Given the description of an element on the screen output the (x, y) to click on. 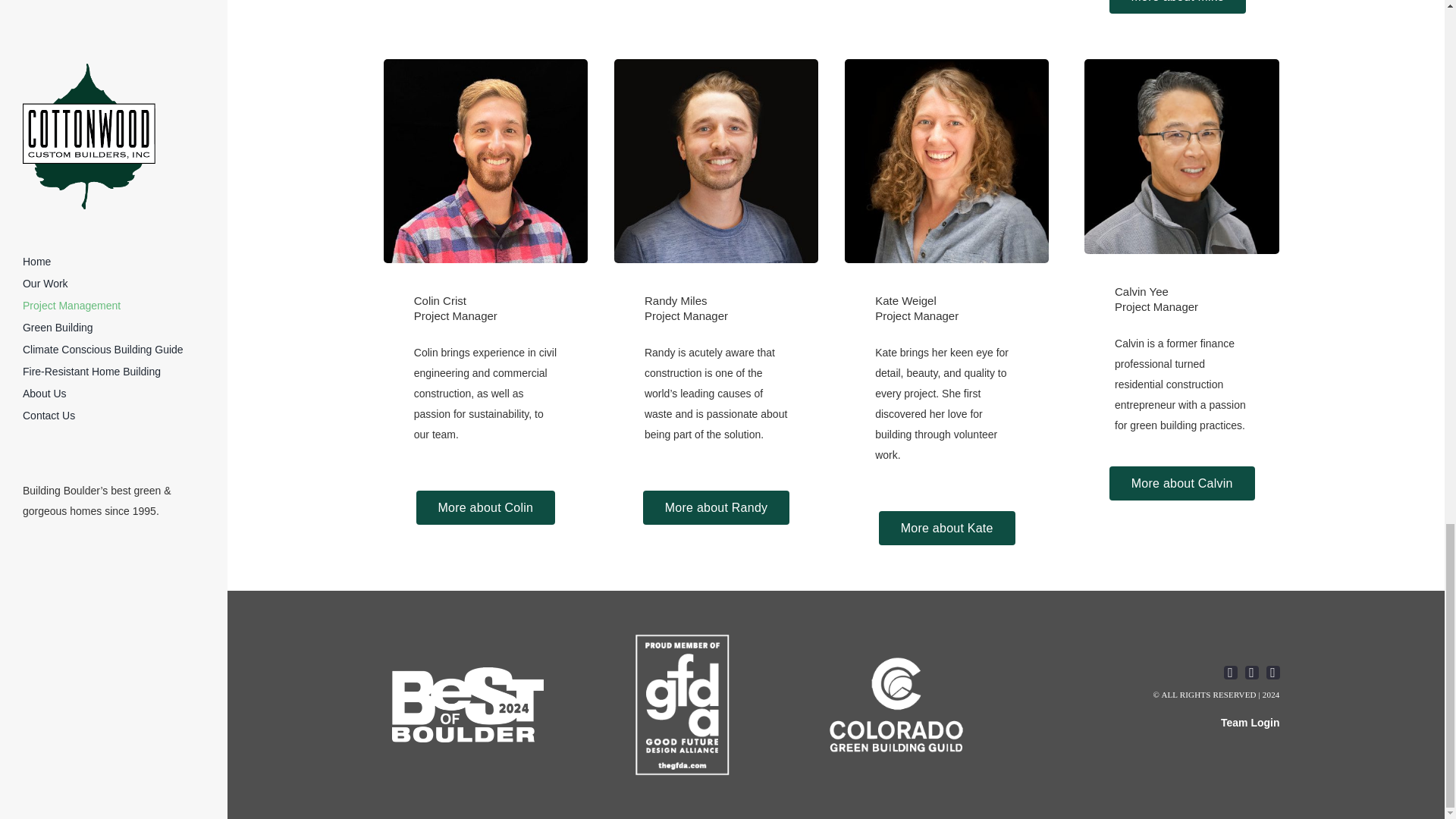
More about Colin (484, 507)
Team Login (1250, 722)
More about Calvin (1182, 483)
More about Randy (716, 507)
More about Kate (946, 528)
More about Mike (1177, 6)
